Given the description of an element on the screen output the (x, y) to click on. 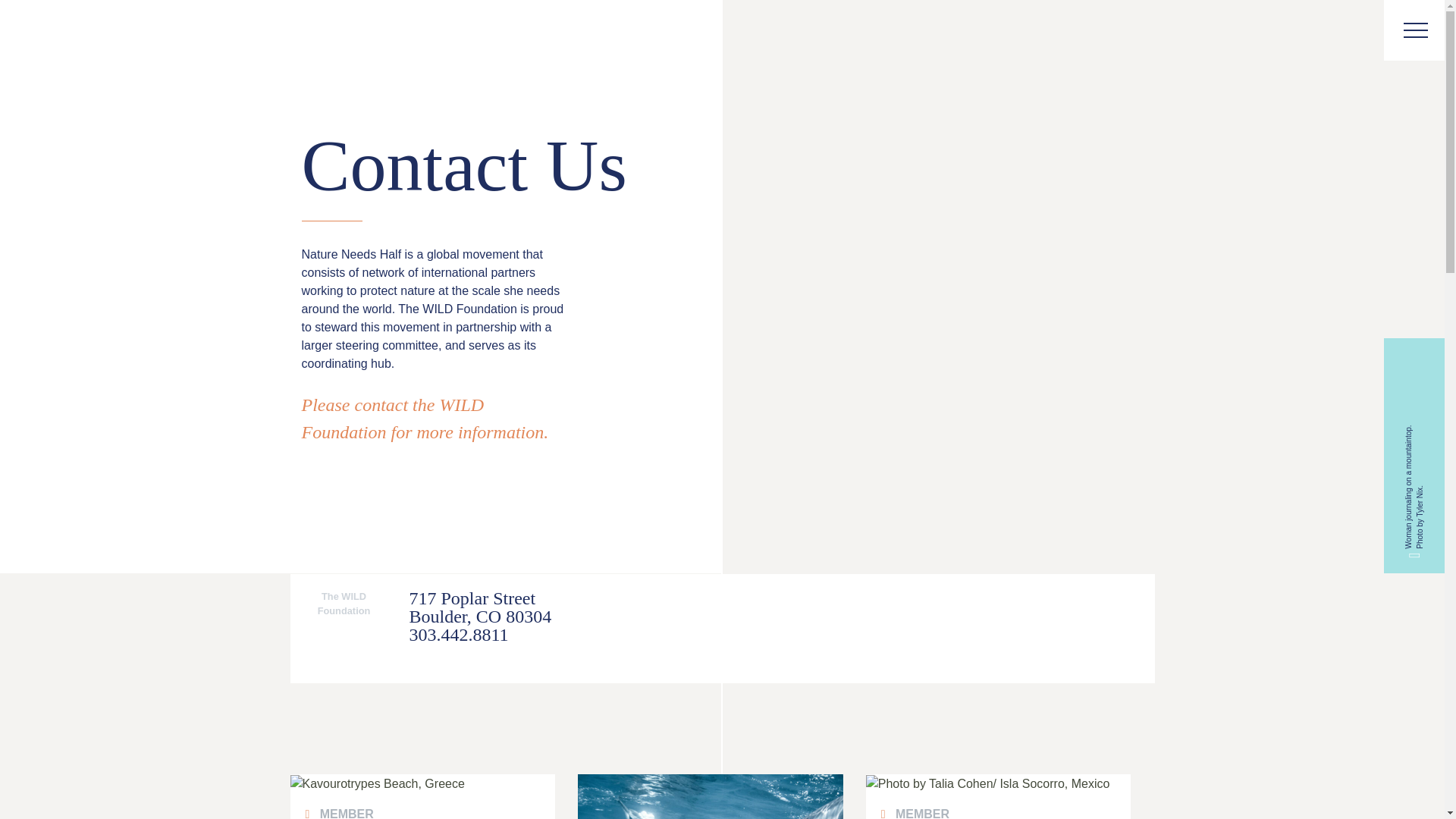
Kavourotrypes Beach, Greece (421, 783)
Please contact the WILD Foundation for more information. (424, 418)
Nature Needs Half (65, 31)
